Given the description of an element on the screen output the (x, y) to click on. 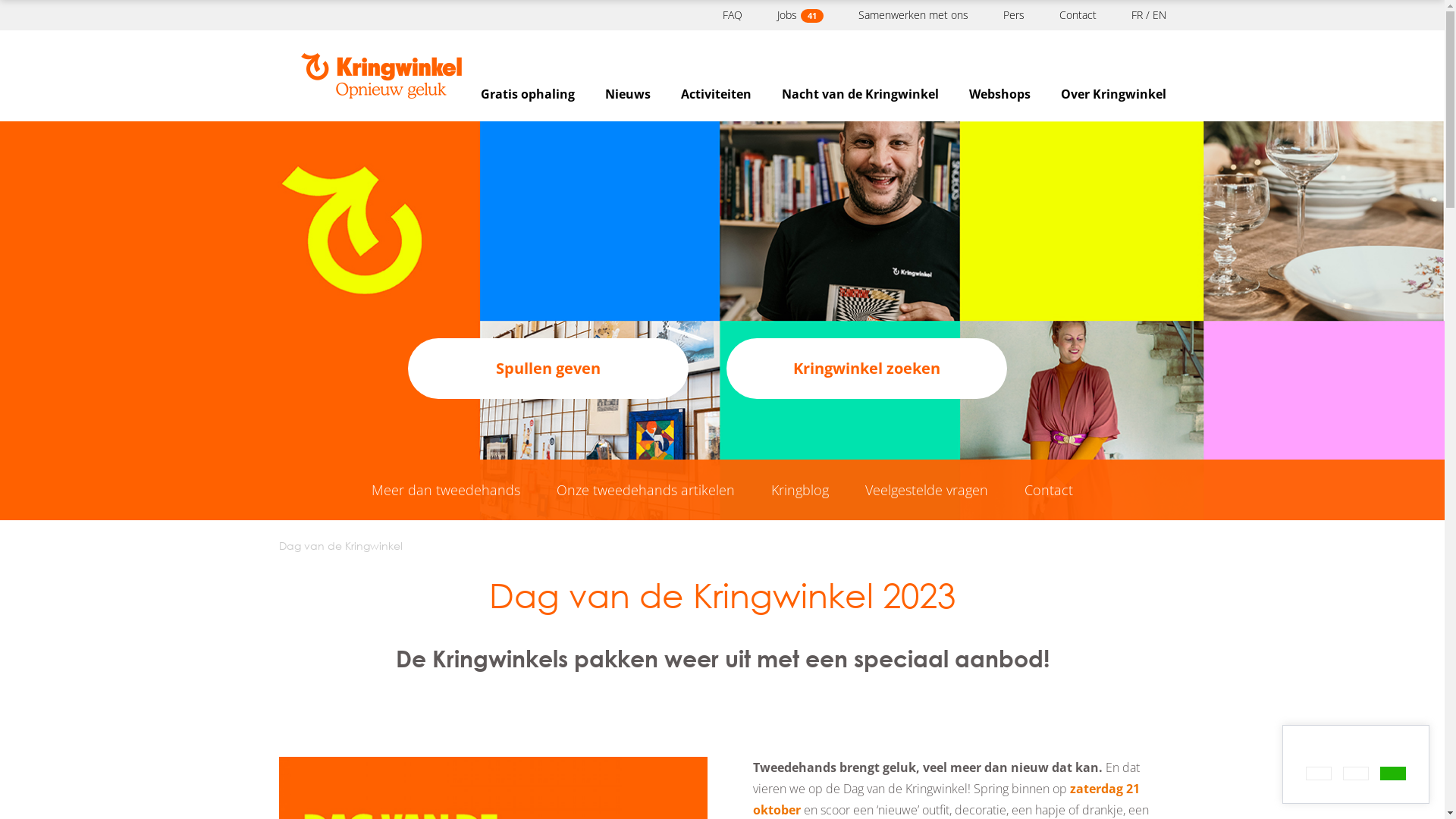
Jobs41 Element type: text (799, 14)
Spullen geven Element type: text (547, 368)
De kringwinkel Element type: text (381, 75)
Dag van de Kringwinkel Element type: text (340, 545)
Meer dan tweedehands Element type: text (445, 489)
Nieuws Element type: text (627, 93)
Contact Element type: text (1076, 14)
Webshops Element type: text (999, 93)
Gratis ophaling Element type: text (527, 93)
FAQ Element type: text (731, 14)
Onze tweedehands artikelen Element type: text (645, 489)
Kringwinkel zoeken Element type: text (866, 368)
Activiteiten Element type: text (715, 93)
Samenwerken met ons Element type: text (913, 14)
Pers Element type: text (1012, 14)
Over Kringwinkel Element type: text (1112, 93)
Veelgestelde vragen Element type: text (926, 489)
Nacht van de Kringwinkel Element type: text (859, 93)
Kringblog Element type: text (799, 489)
Contact Element type: text (1048, 489)
